Given the description of an element on the screen output the (x, y) to click on. 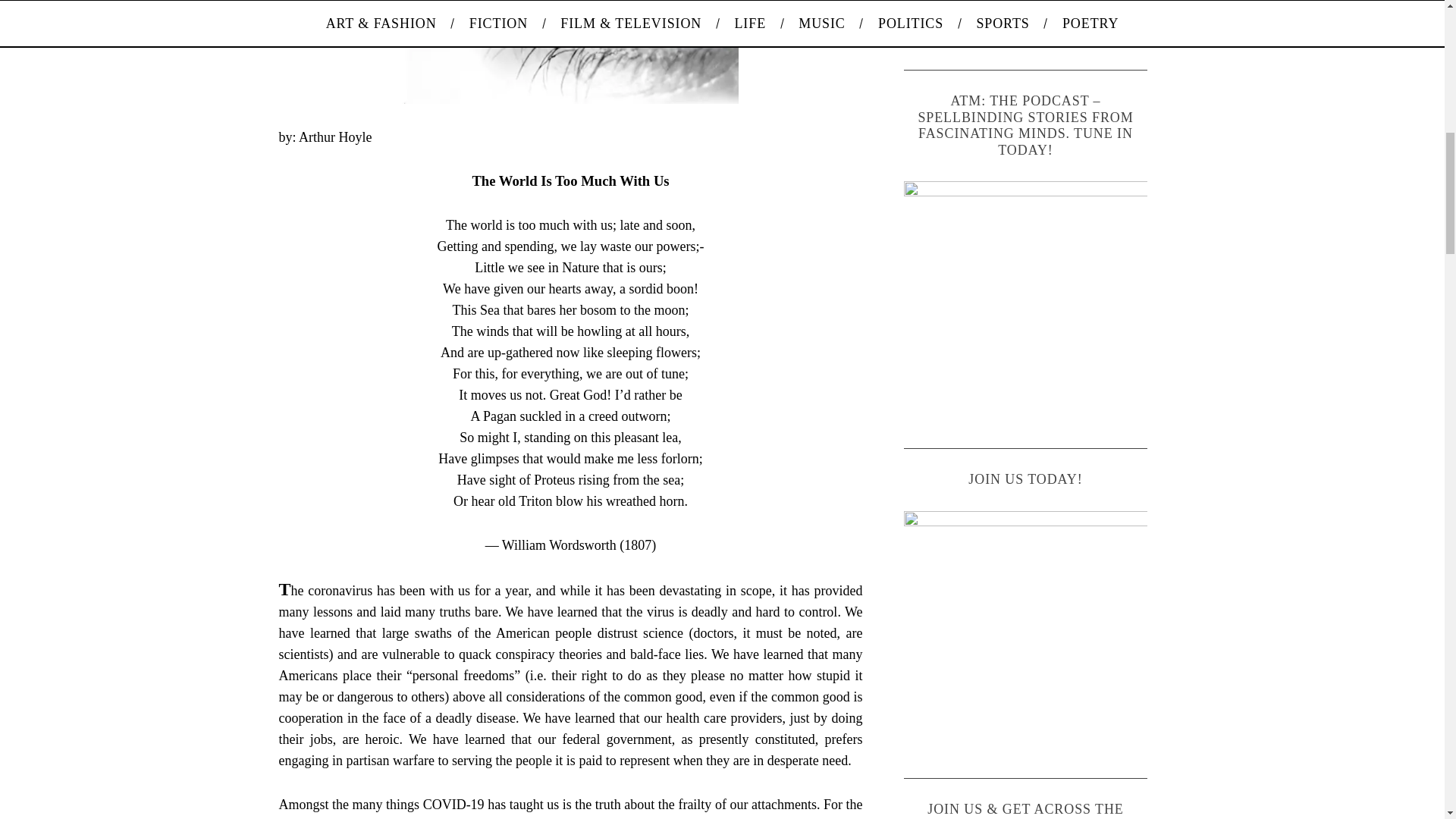
SHOP THE MARGIN! (1026, 23)
JOIN US TODAY! (1026, 633)
